Given the description of an element on the screen output the (x, y) to click on. 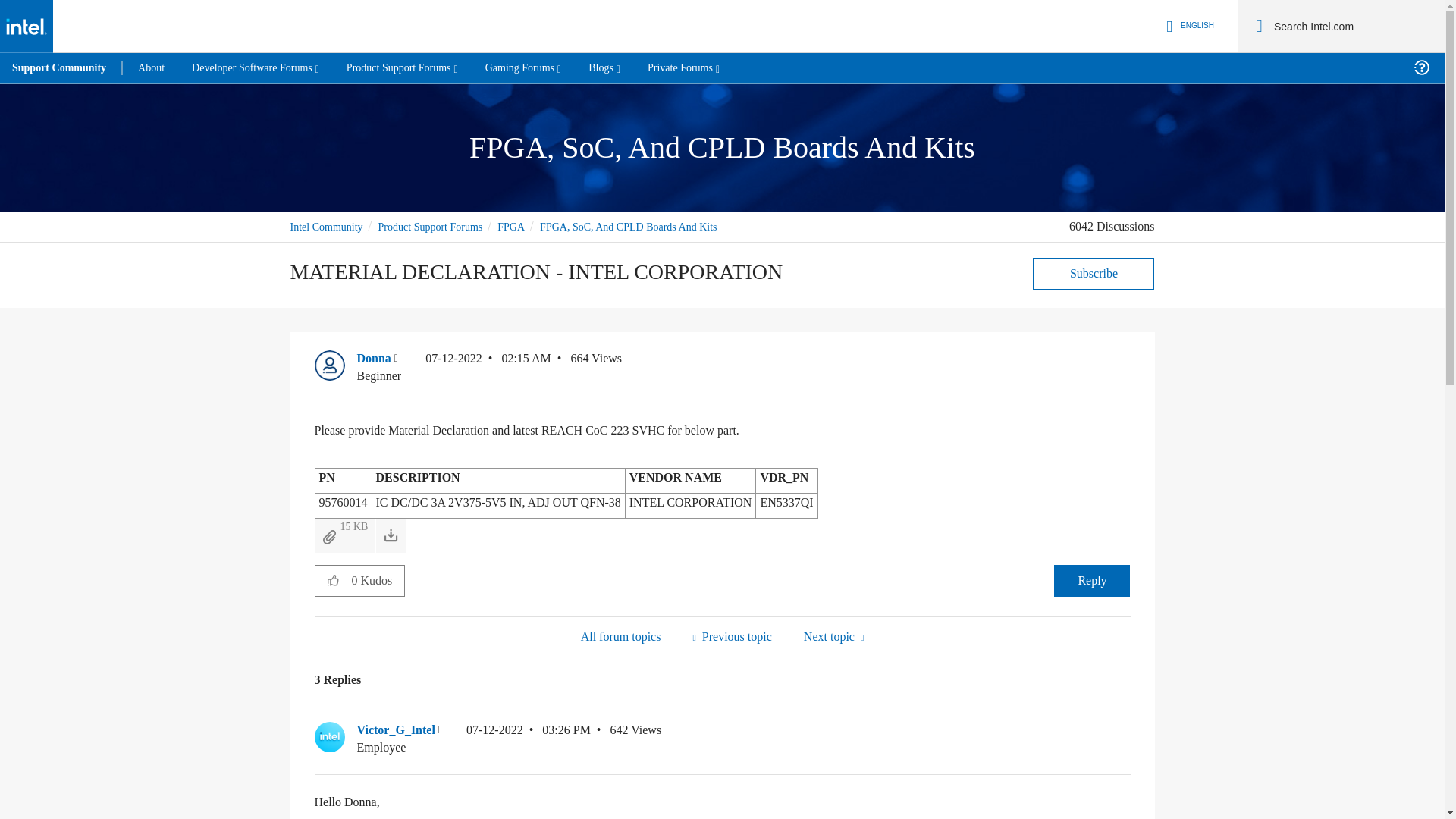
The total number of kudos this post has received. (377, 580)
Search (1259, 26)
Posted on (528, 738)
FPGA, SoC, And CPLD Boards And Kits (620, 636)
Download attachment (391, 534)
About (150, 68)
failed loading rbf in Agilex DK-SI-AGF014EA board (731, 636)
Language Selector (1187, 26)
Click here to give kudos to this post. (332, 579)
Posted on (488, 367)
Attachment (328, 536)
Donna (328, 365)
Support Community (58, 68)
ENGLISH (1187, 26)
